Given the description of an element on the screen output the (x, y) to click on. 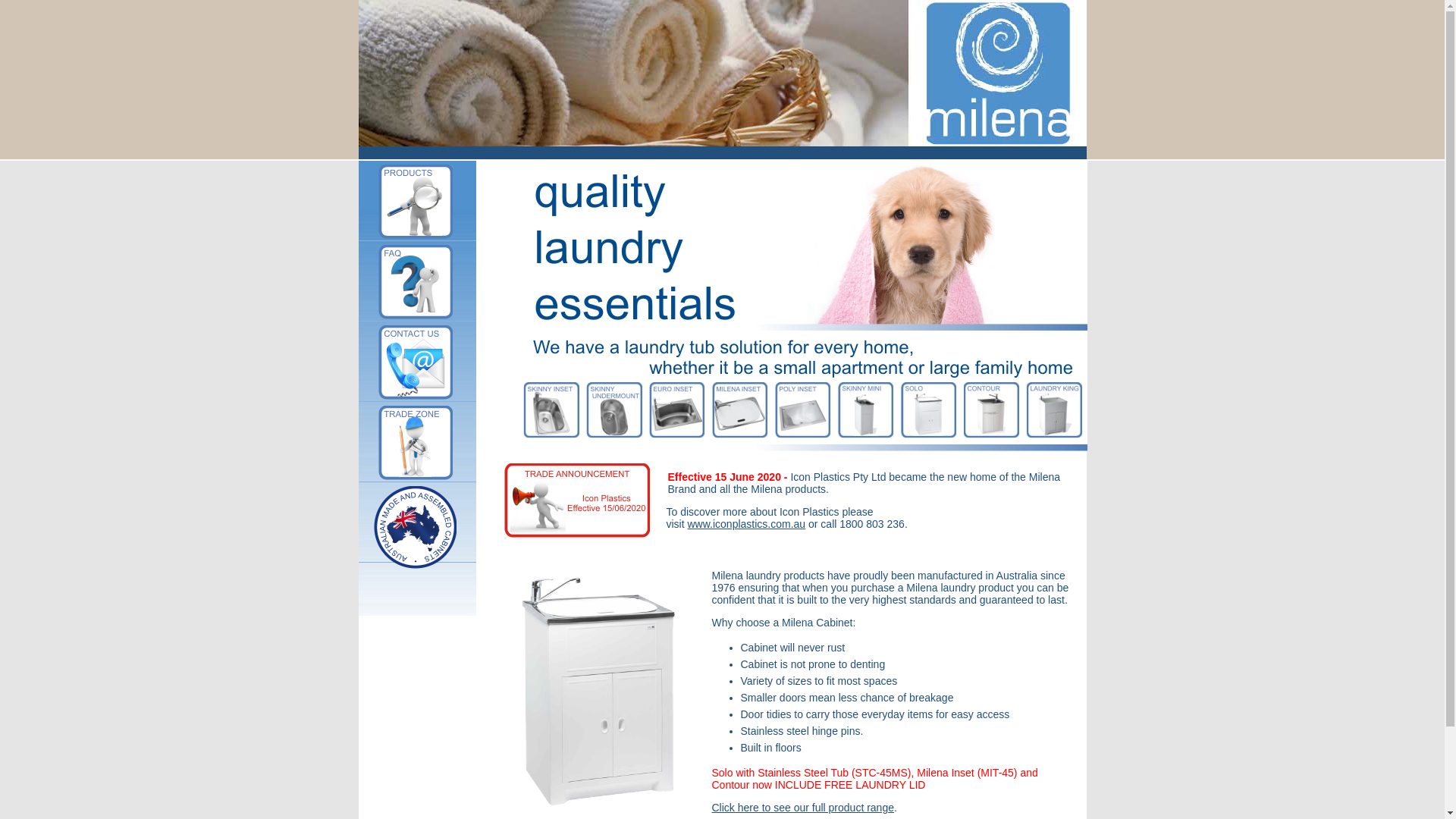
www.iconplastics.com.au Element type: text (746, 523)
Click here to see our full product range Element type: text (802, 807)
